Given the description of an element on the screen output the (x, y) to click on. 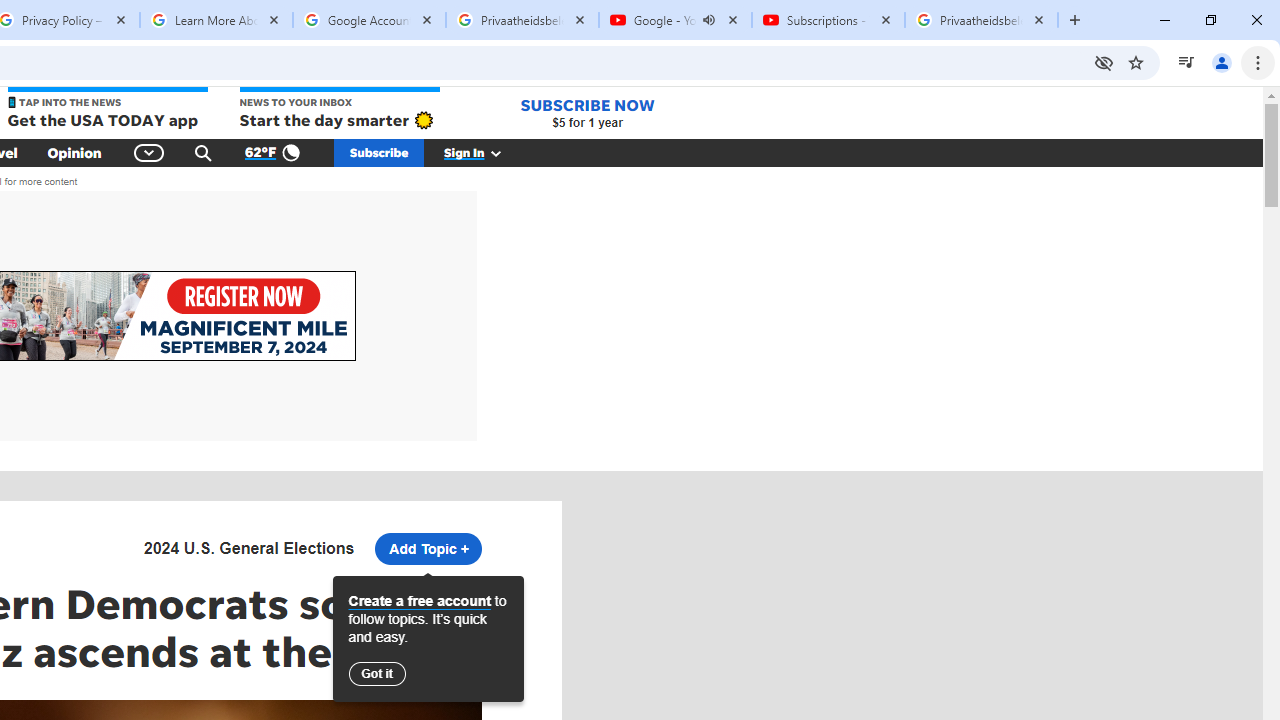
Control your music, videos, and more (1185, 62)
Create a free account (419, 601)
Global Navigation (149, 152)
You (1221, 62)
Sign In (483, 152)
Third-party cookies blocked (1103, 62)
Subscriptions - YouTube (827, 20)
Minimize (1165, 20)
Mute tab (708, 20)
Got it (376, 673)
